Given the description of an element on the screen output the (x, y) to click on. 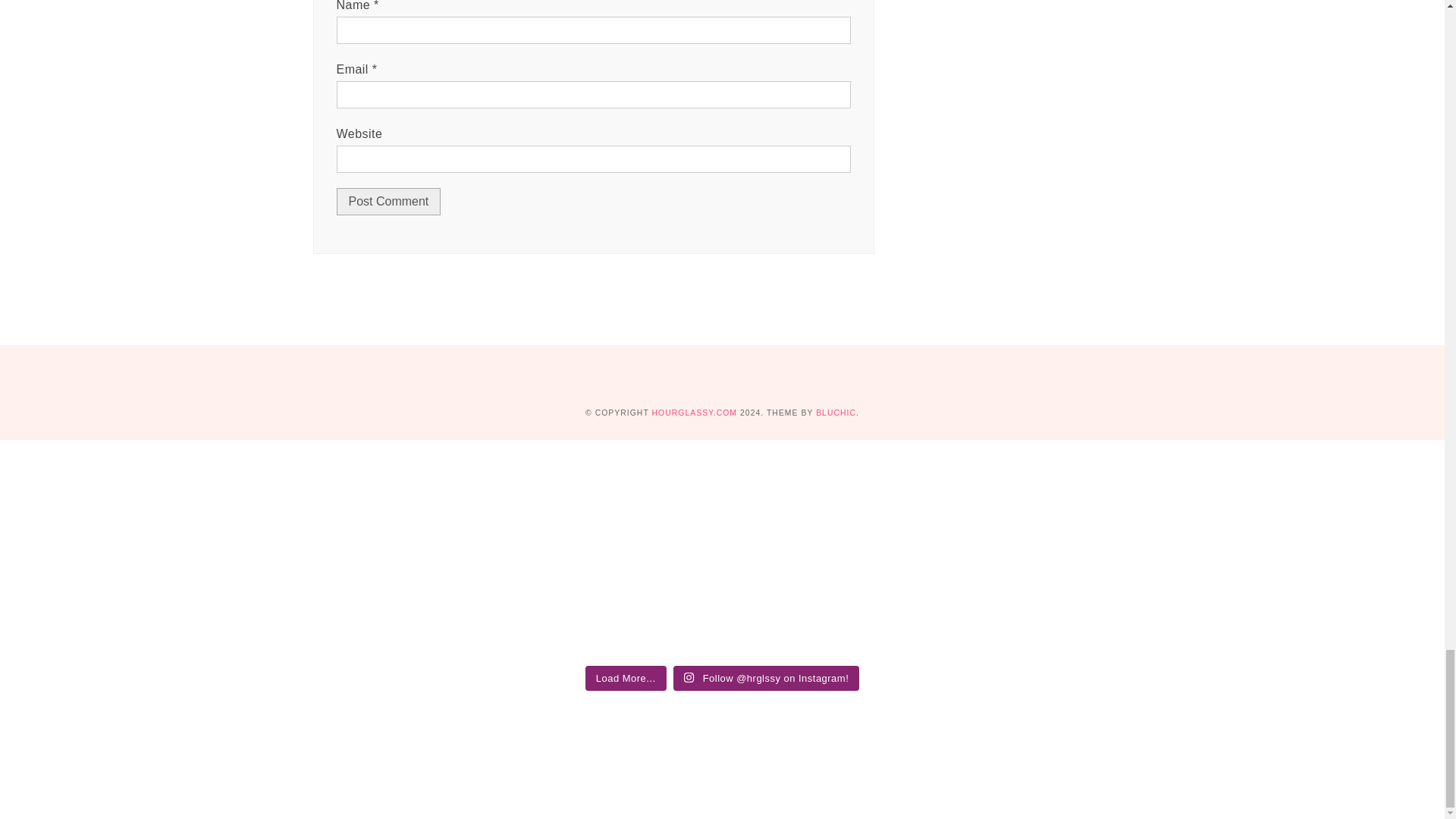
Post Comment (388, 201)
BLUCHIC (835, 412)
Post Comment (388, 201)
HOURGLASSY.COM (695, 412)
